Given the description of an element on the screen output the (x, y) to click on. 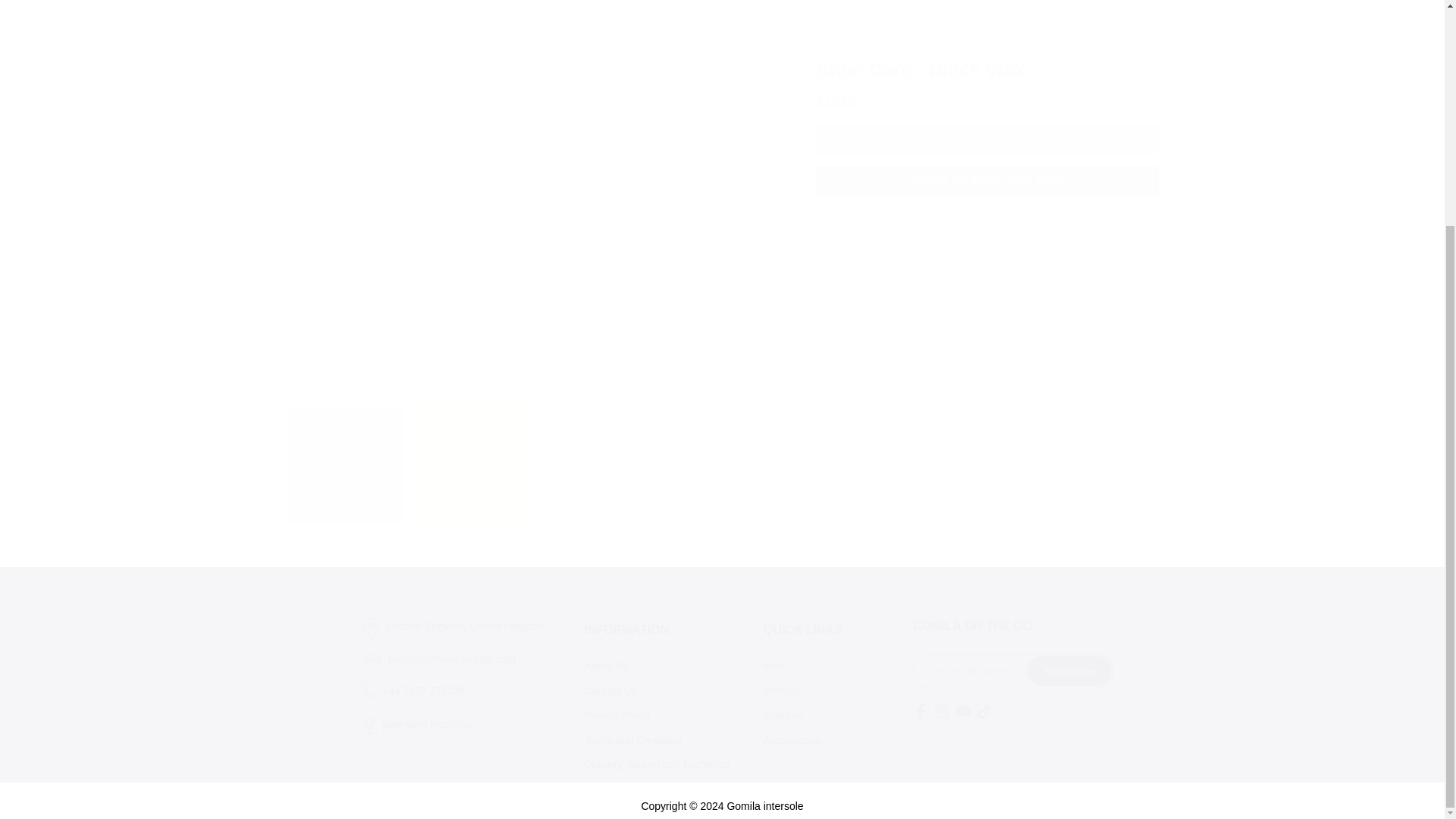
Description (986, 81)
Privacy Policy (616, 715)
About Us (605, 665)
Contact US (611, 690)
Lasts, Soles, Materials and Shoe Care (986, 124)
Terms and Condition (632, 739)
NOTIFY ME WHEN AVAILABLE (986, 12)
